Given the description of an element on the screen output the (x, y) to click on. 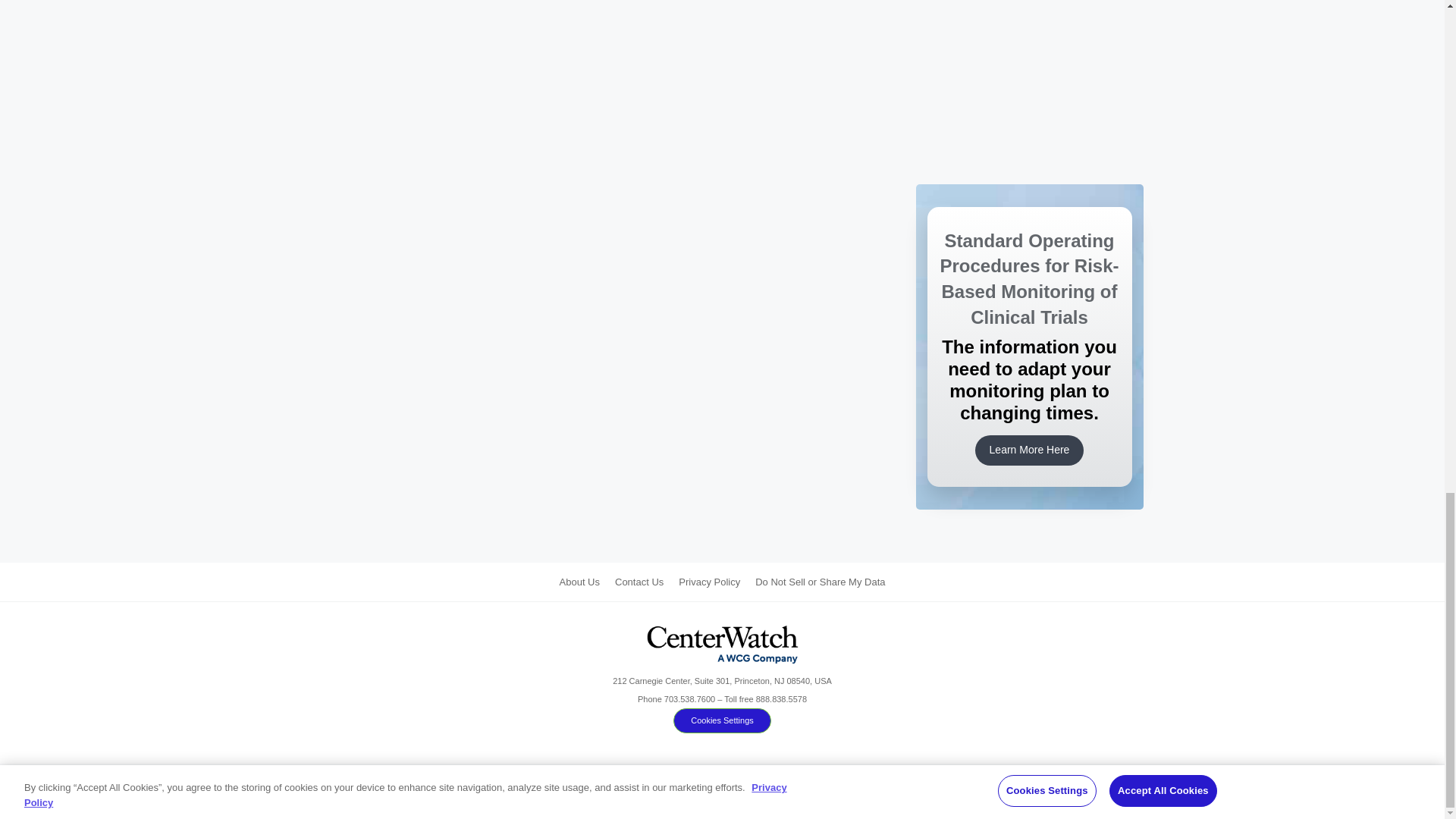
3rd party ad content (1028, 31)
3rd party ad content (1028, 122)
